Given the description of an element on the screen output the (x, y) to click on. 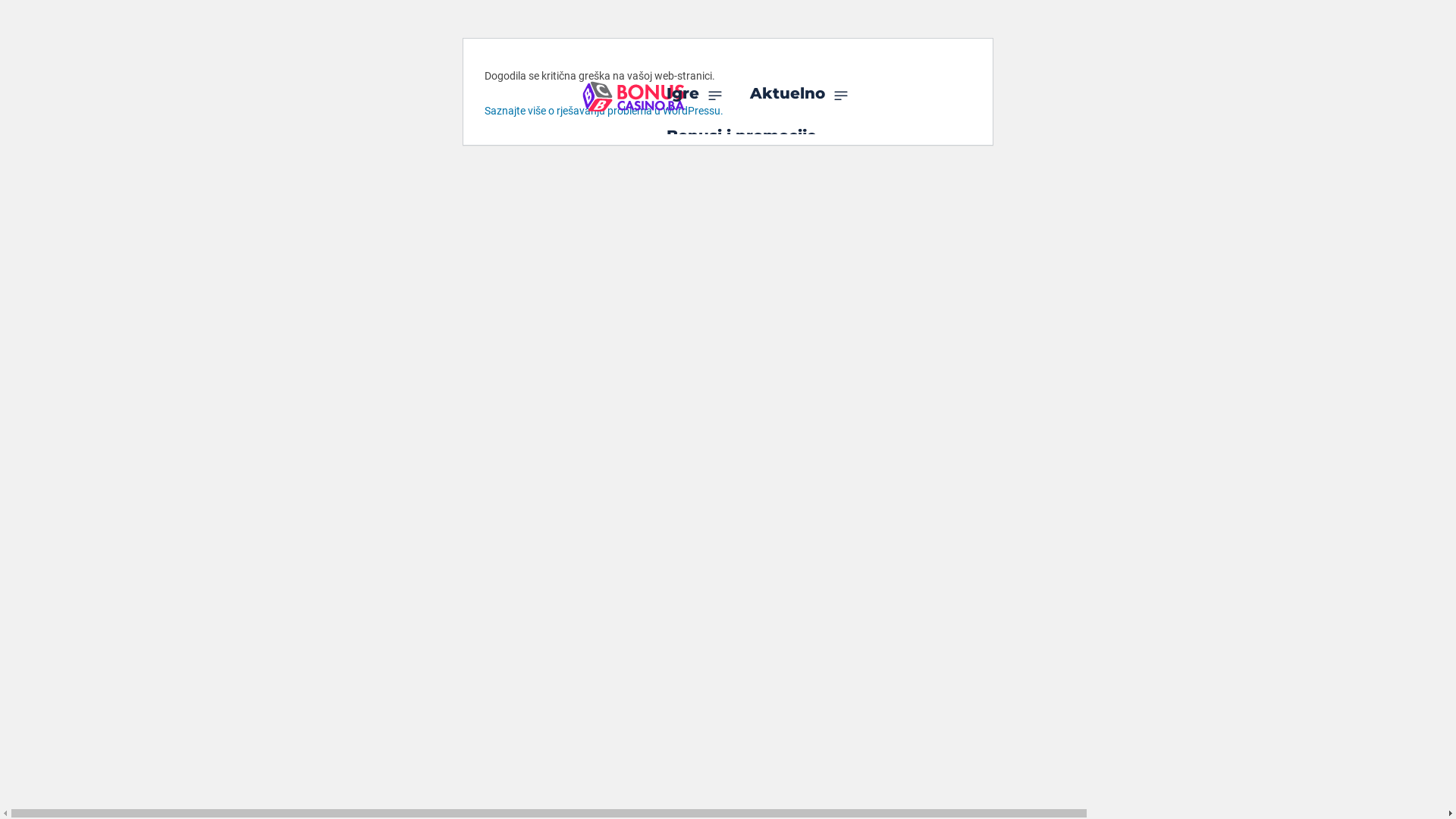
Bonusi i promocije Element type: text (741, 135)
Igre Element type: text (694, 93)
Aktuelno Element type: text (799, 93)
